Given the description of an element on the screen output the (x, y) to click on. 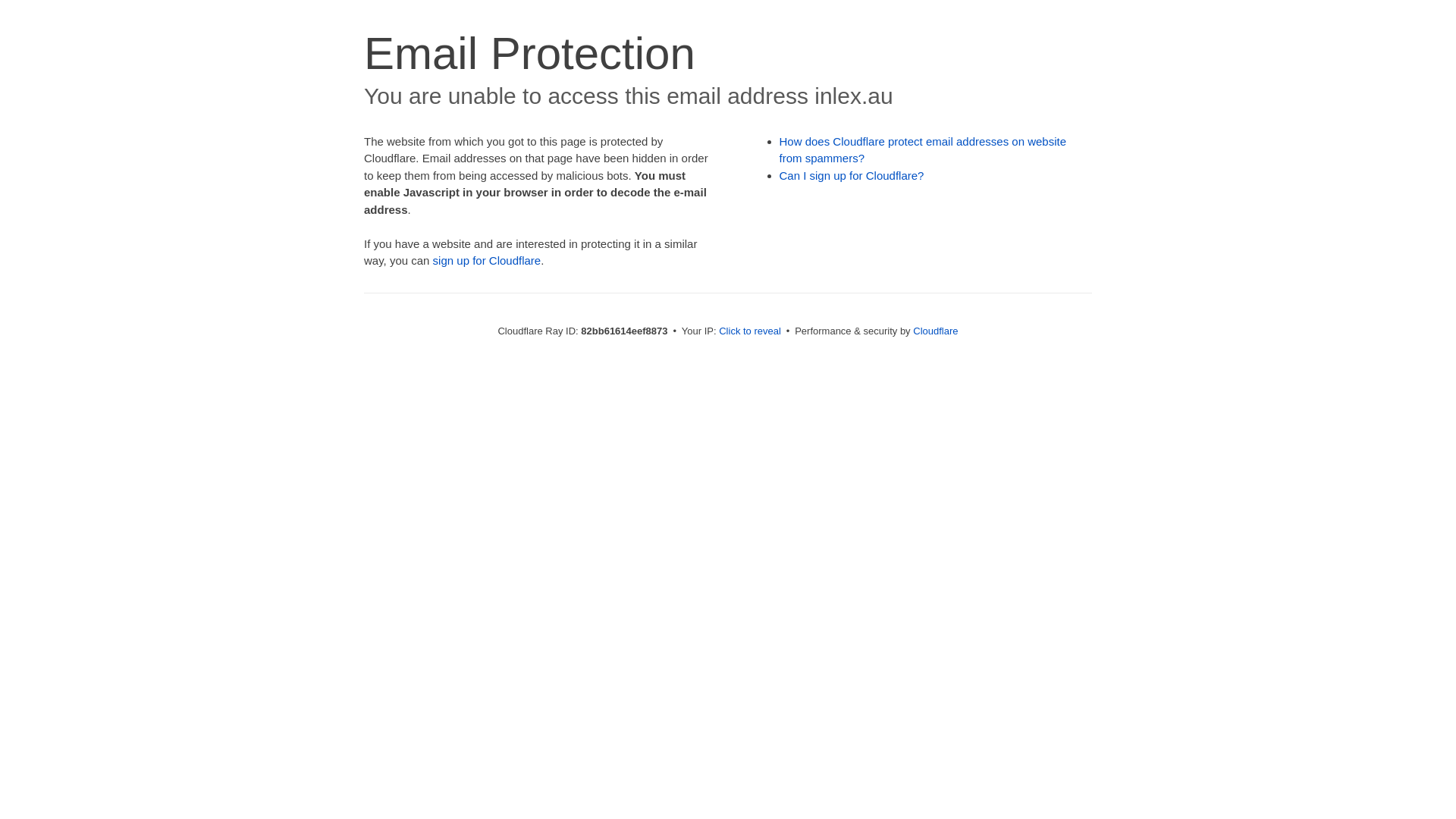
sign up for Cloudflare Element type: text (487, 260)
Click to reveal Element type: text (749, 330)
Cloudflare Element type: text (935, 330)
Can I sign up for Cloudflare? Element type: text (851, 175)
